Given the description of an element on the screen output the (x, y) to click on. 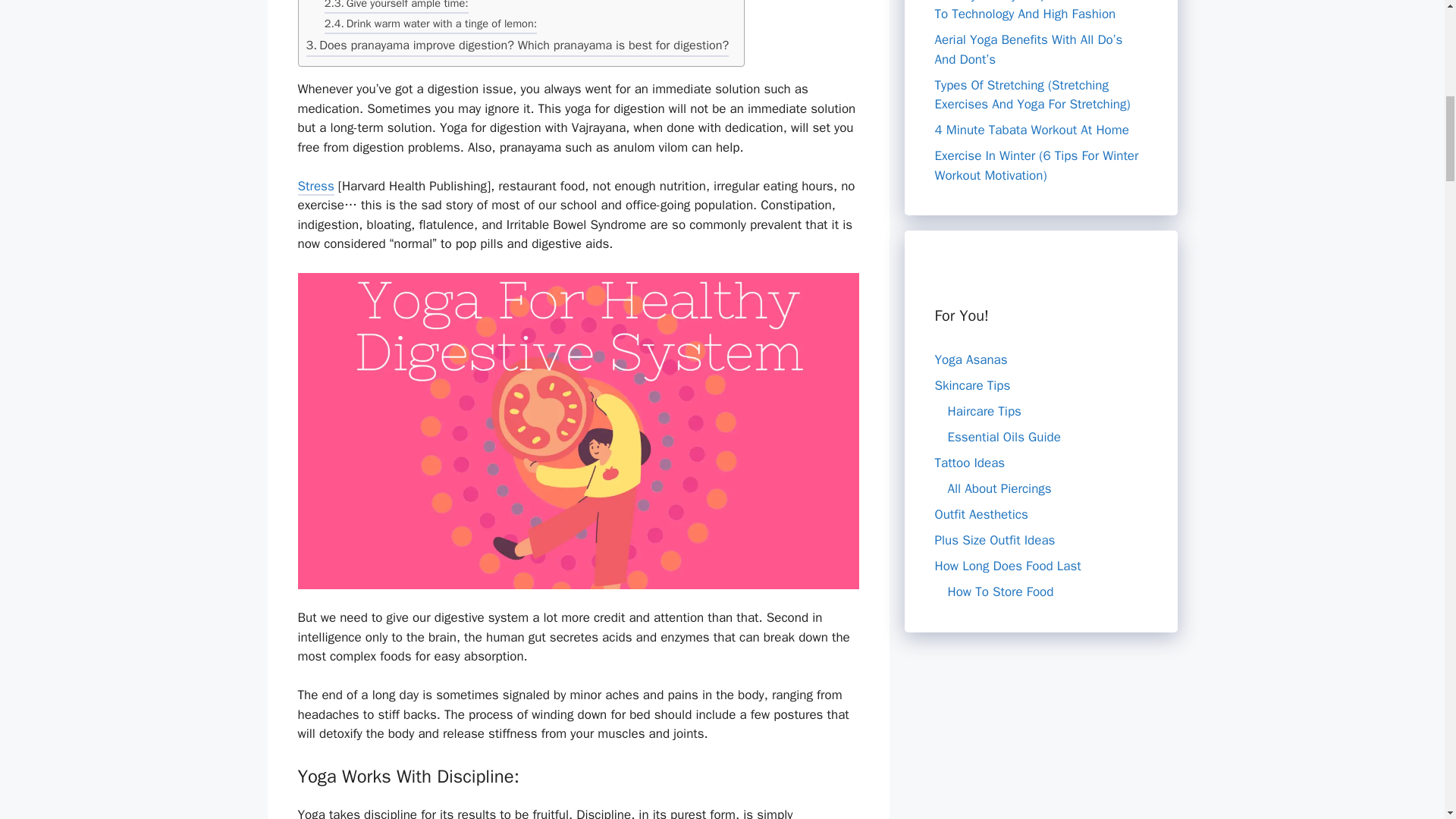
Give yourself ample time: (396, 7)
Drink warm water with a tinge of lemon: (430, 25)
